Given the description of an element on the screen output the (x, y) to click on. 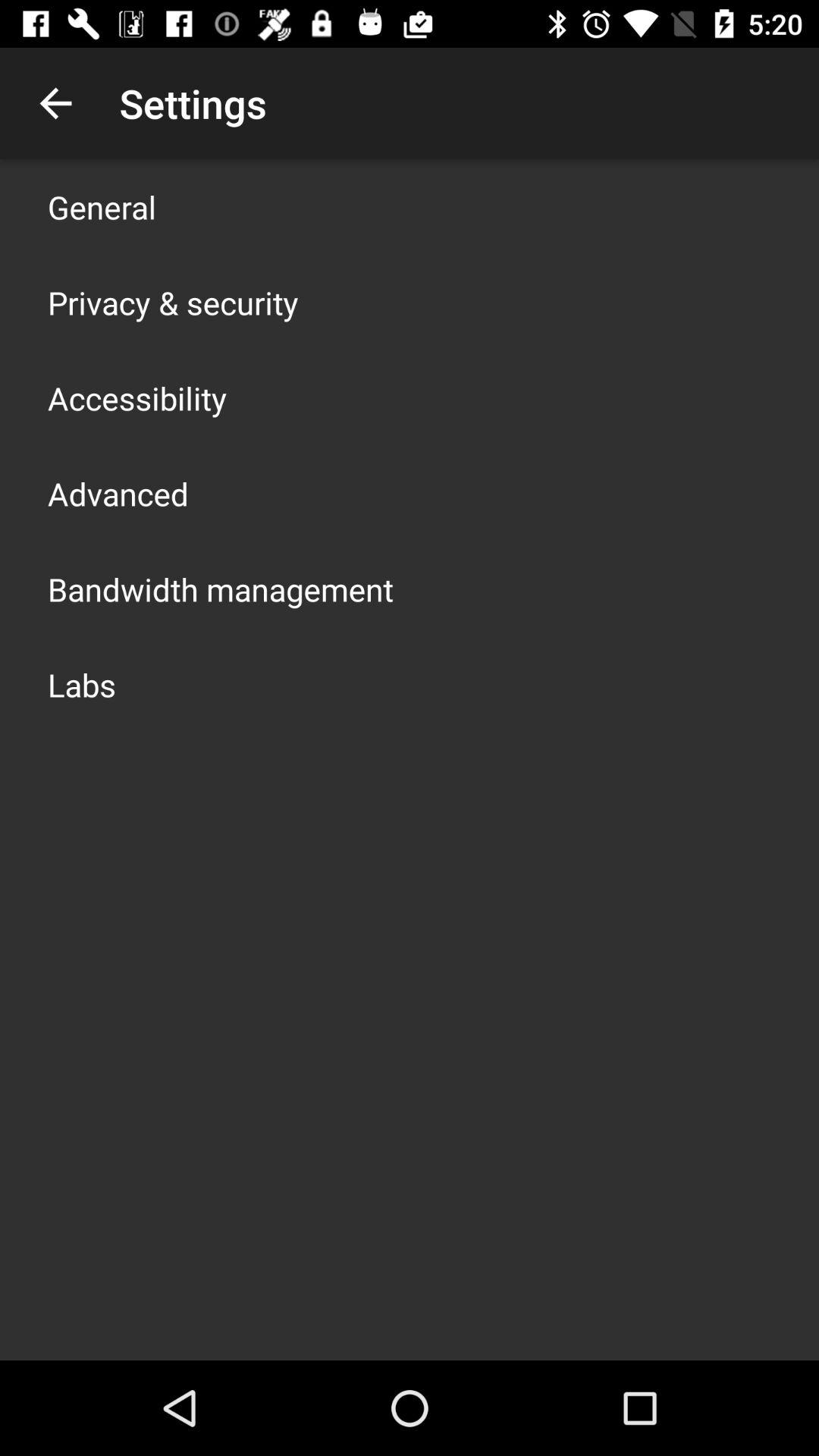
launch item above labs icon (220, 588)
